Given the description of an element on the screen output the (x, y) to click on. 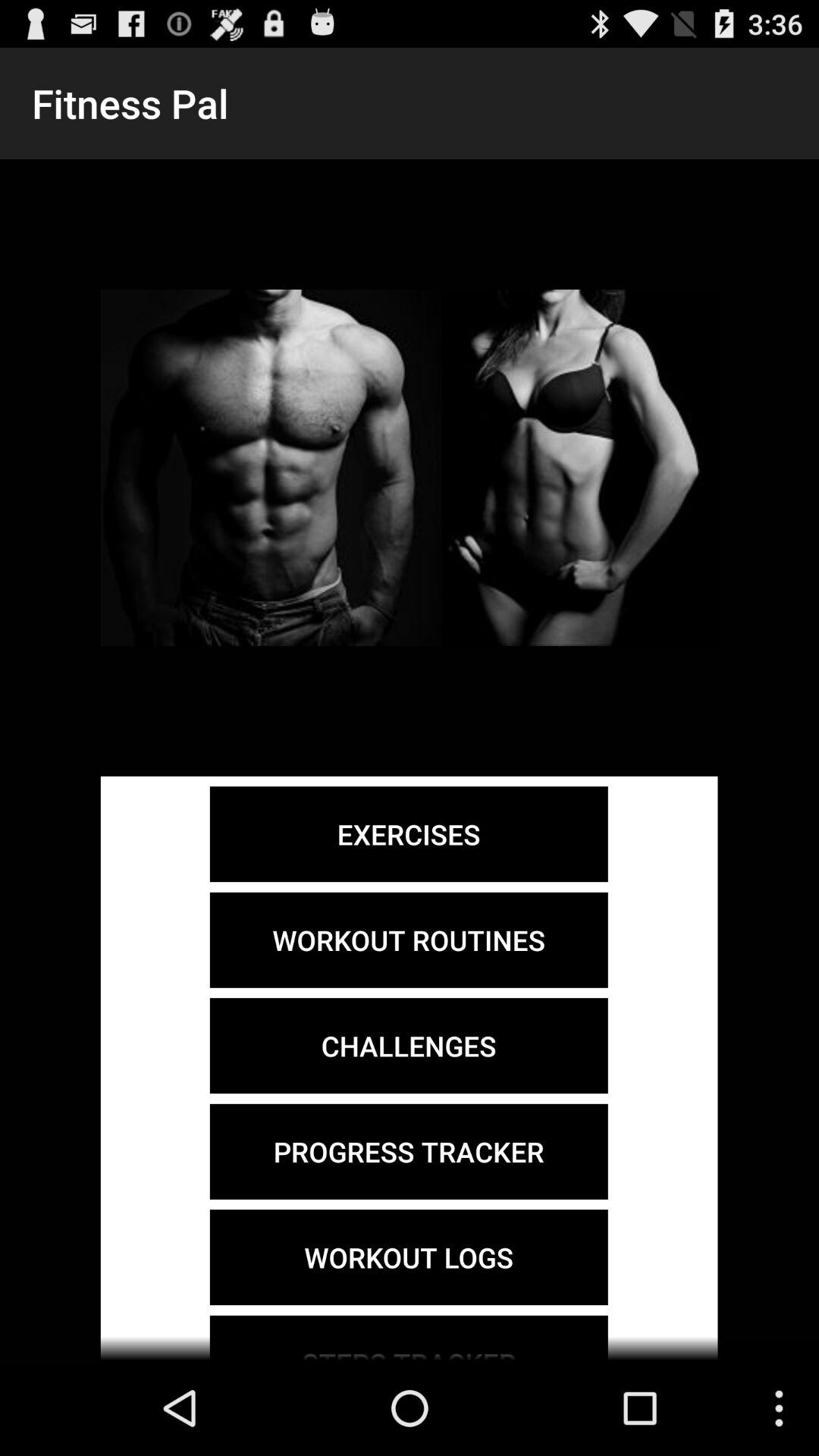
flip to the workout logs icon (408, 1257)
